Given the description of an element on the screen output the (x, y) to click on. 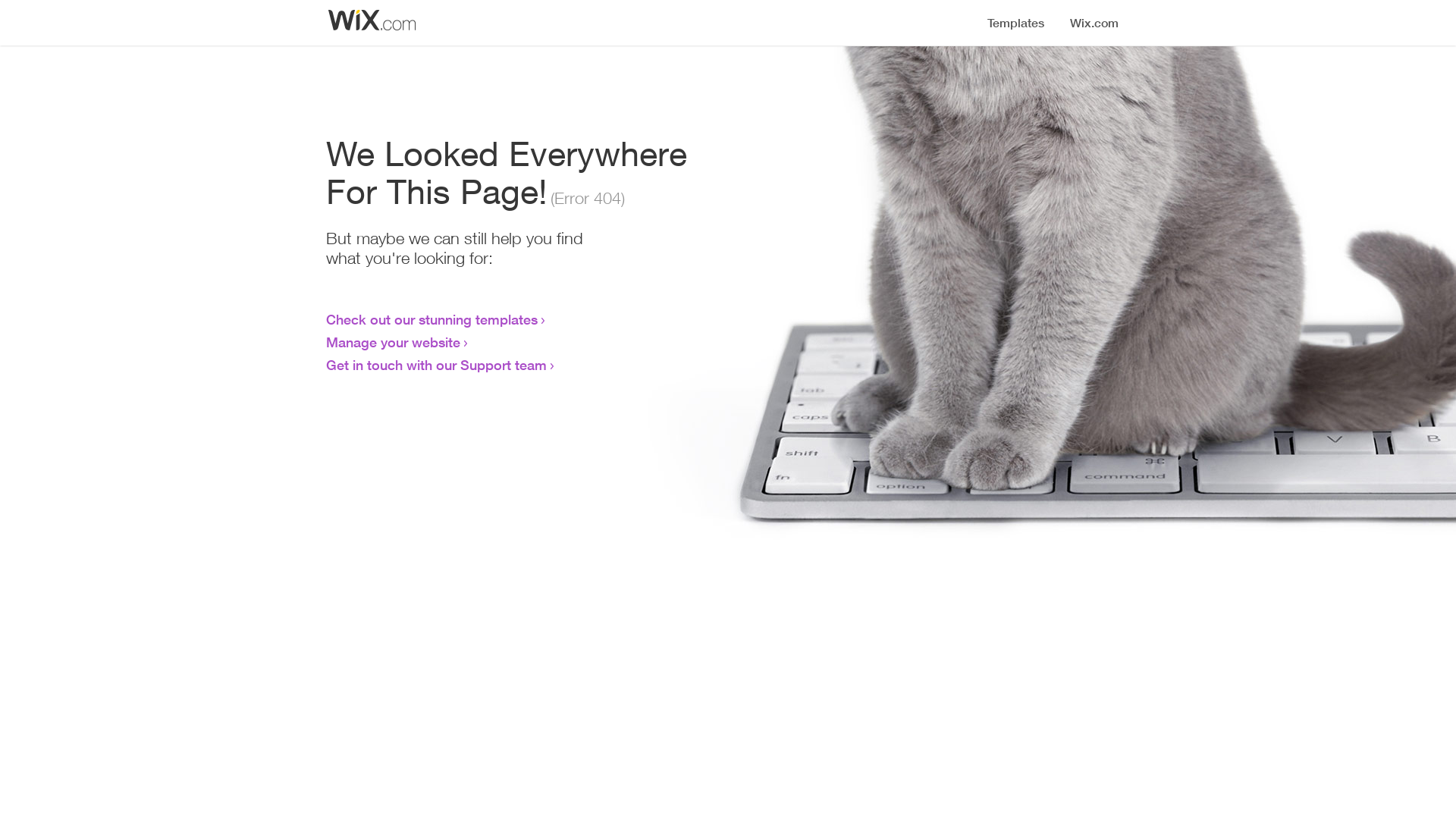
Check out our stunning templates Element type: text (431, 318)
Get in touch with our Support team Element type: text (436, 364)
Manage your website Element type: text (393, 341)
